Given the description of an element on the screen output the (x, y) to click on. 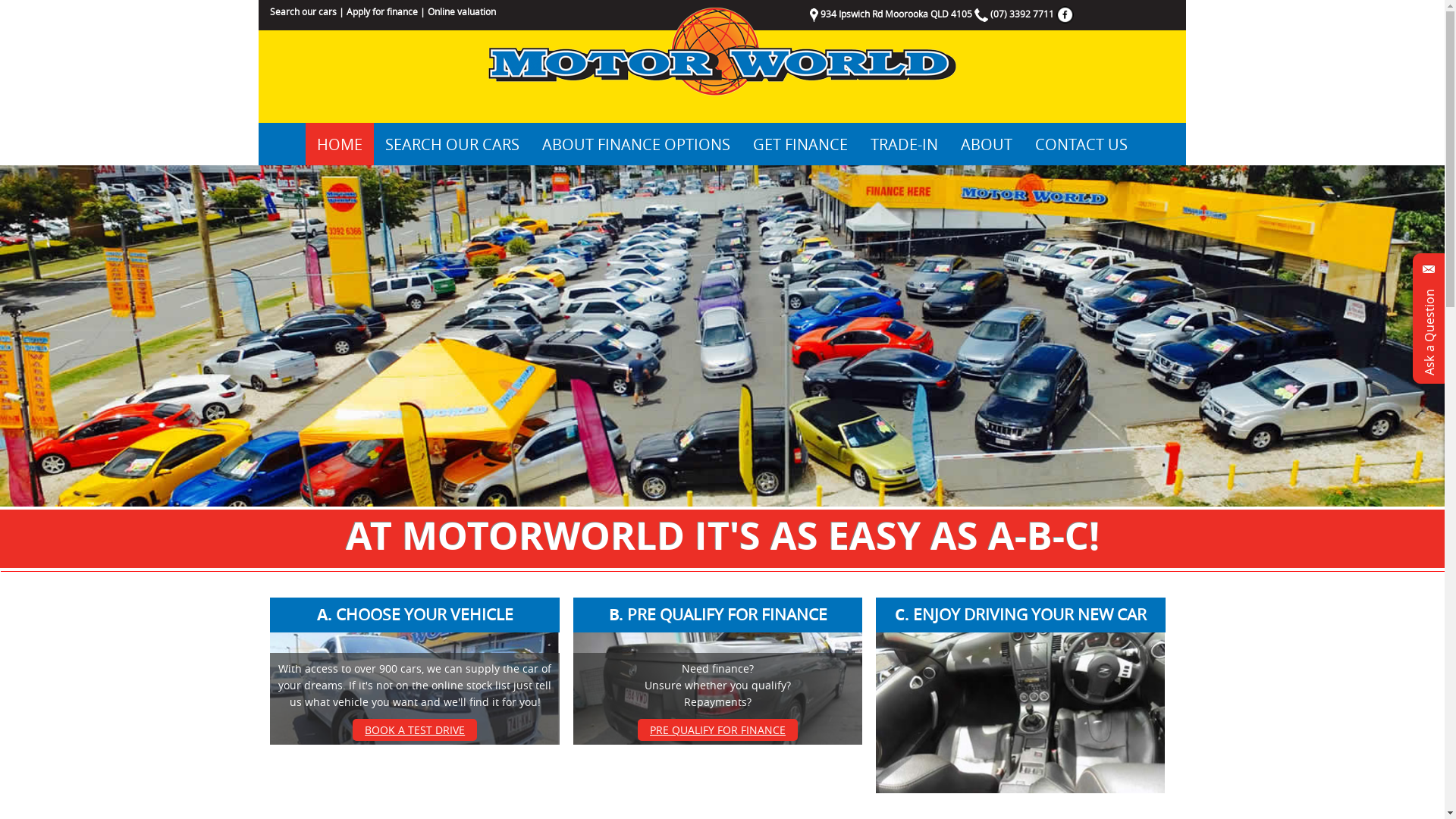
TRADE-IN Element type: text (904, 143)
CONTACT US Element type: text (1081, 143)
Search our cars Element type: text (302, 11)
ABOUT Element type: text (986, 143)
(07) 3392 7711 Element type: text (1022, 13)
Apply for finance Element type: text (381, 11)
Online valuation Element type: text (461, 11)
ABOUT FINANCE OPTIONS Element type: text (635, 143)
Find us on Facebook Element type: hover (1064, 13)
Motorworld QLD Element type: hover (722, 51)
SEARCH OUR CARS Element type: text (451, 143)
GET FINANCE Element type: text (800, 143)
PRE QUALIFY FOR FINANCE Element type: text (717, 729)
HOME Element type: text (339, 143)
BOOK A TEST DRIVE Element type: text (414, 729)
